Given the description of an element on the screen output the (x, y) to click on. 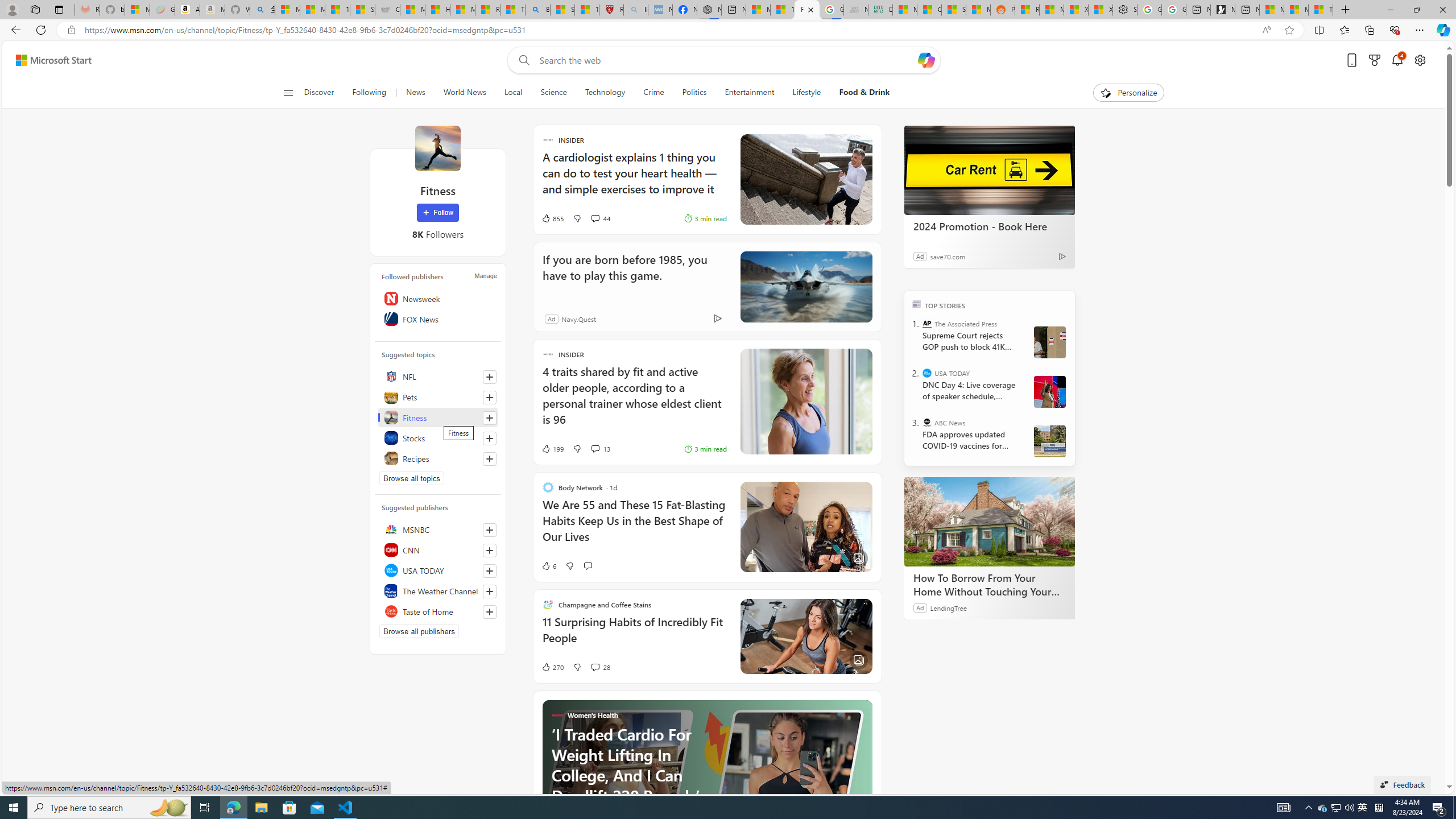
Follow this topic (489, 458)
Technology (604, 92)
Local (513, 92)
2024 Promotion - Book Here (988, 226)
Fitness - MSN (807, 9)
Skip to content (49, 59)
NFL (437, 376)
